Given the description of an element on the screen output the (x, y) to click on. 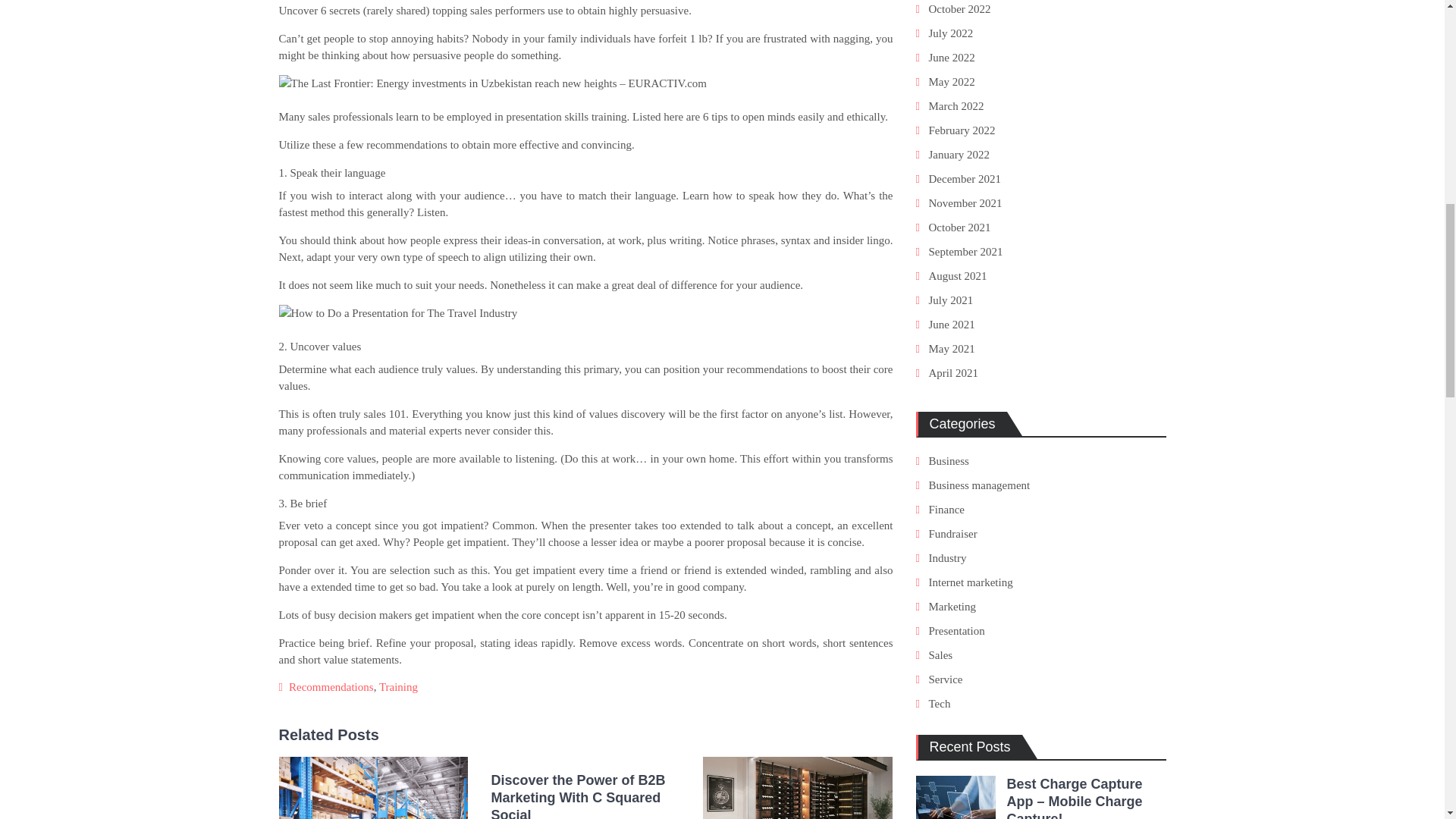
Discover the Power of B2B Marketing With C Squared Social (584, 795)
Recommendations (331, 686)
Training (397, 686)
